Given the description of an element on the screen output the (x, y) to click on. 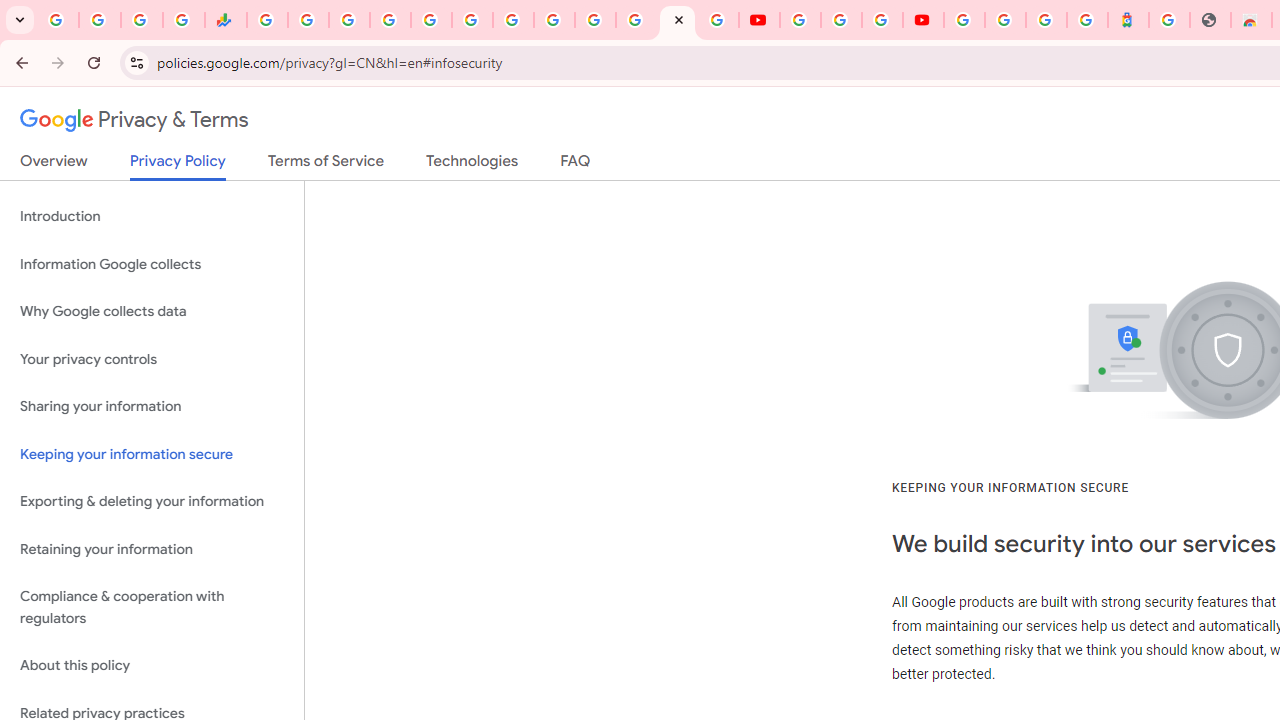
Create your Google Account (881, 20)
Sign in - Google Accounts (594, 20)
YouTube (799, 20)
